Given the description of an element on the screen output the (x, y) to click on. 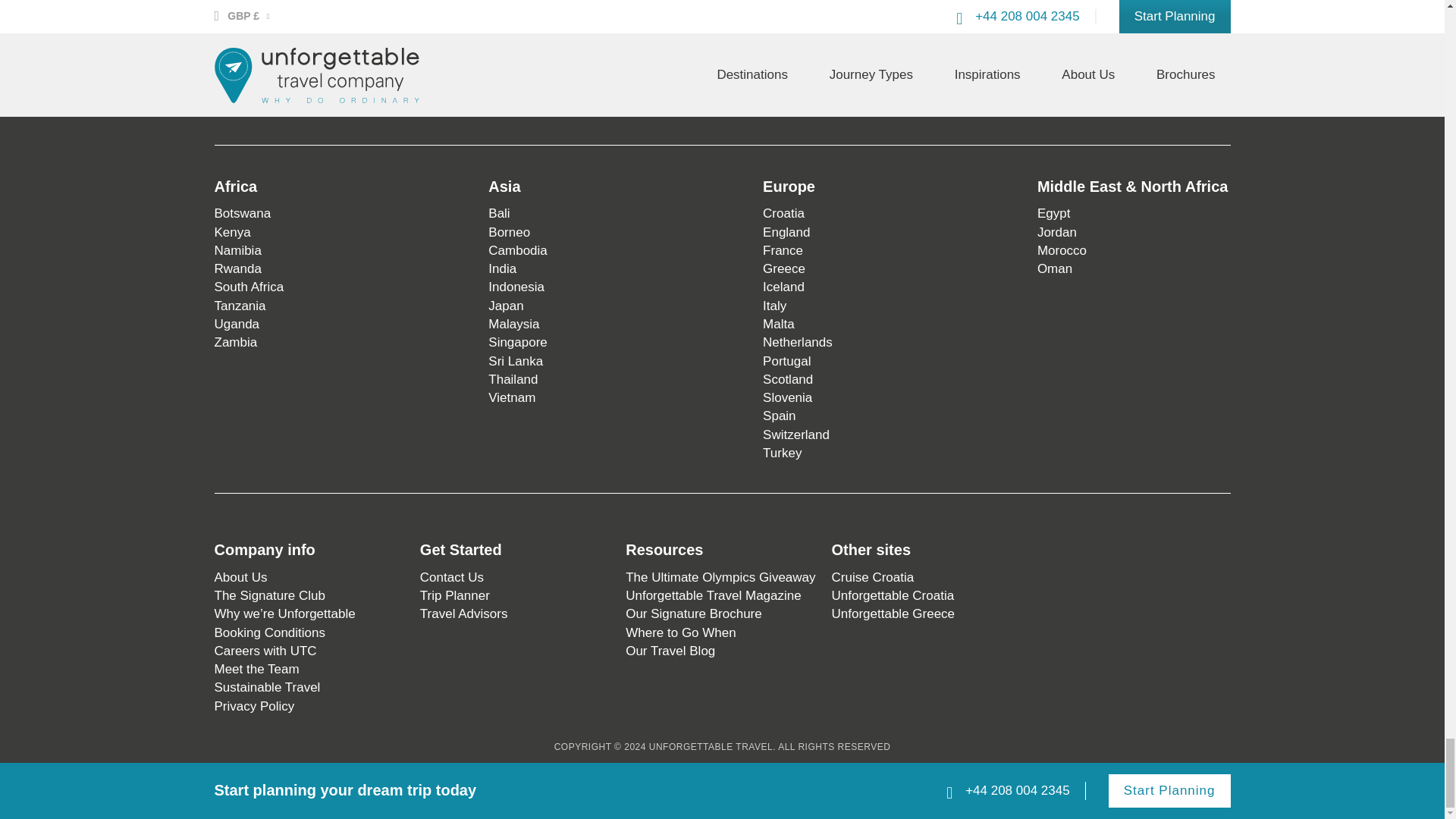
Go (534, 59)
